Given the description of an element on the screen output the (x, y) to click on. 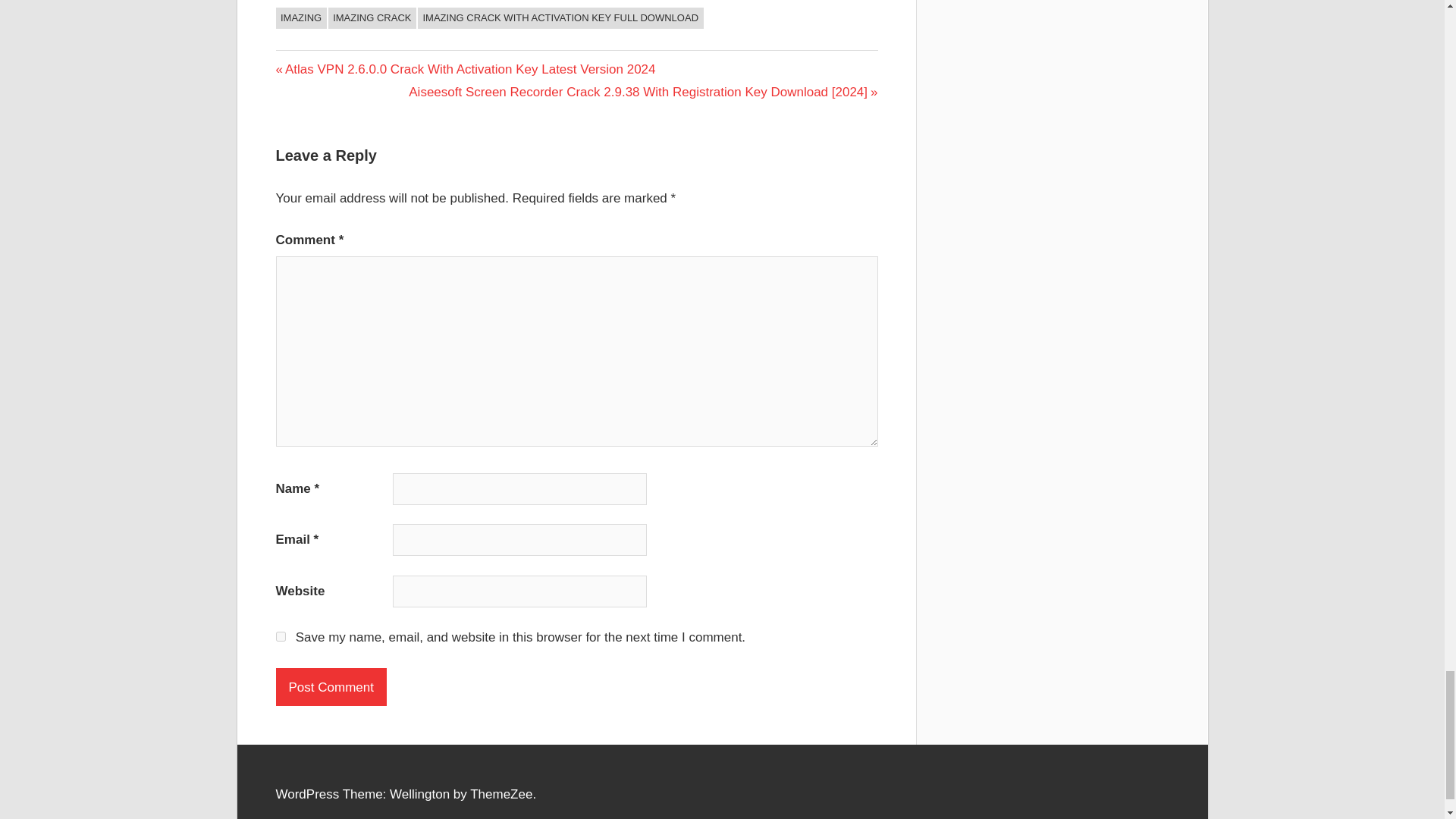
Post Comment (331, 686)
yes (280, 636)
IMAZING (301, 17)
IMAZING CRACK WITH ACTIVATION KEY FULL DOWNLOAD (560, 17)
IMAZING CRACK (372, 17)
Post Comment (331, 686)
